Given the description of an element on the screen output the (x, y) to click on. 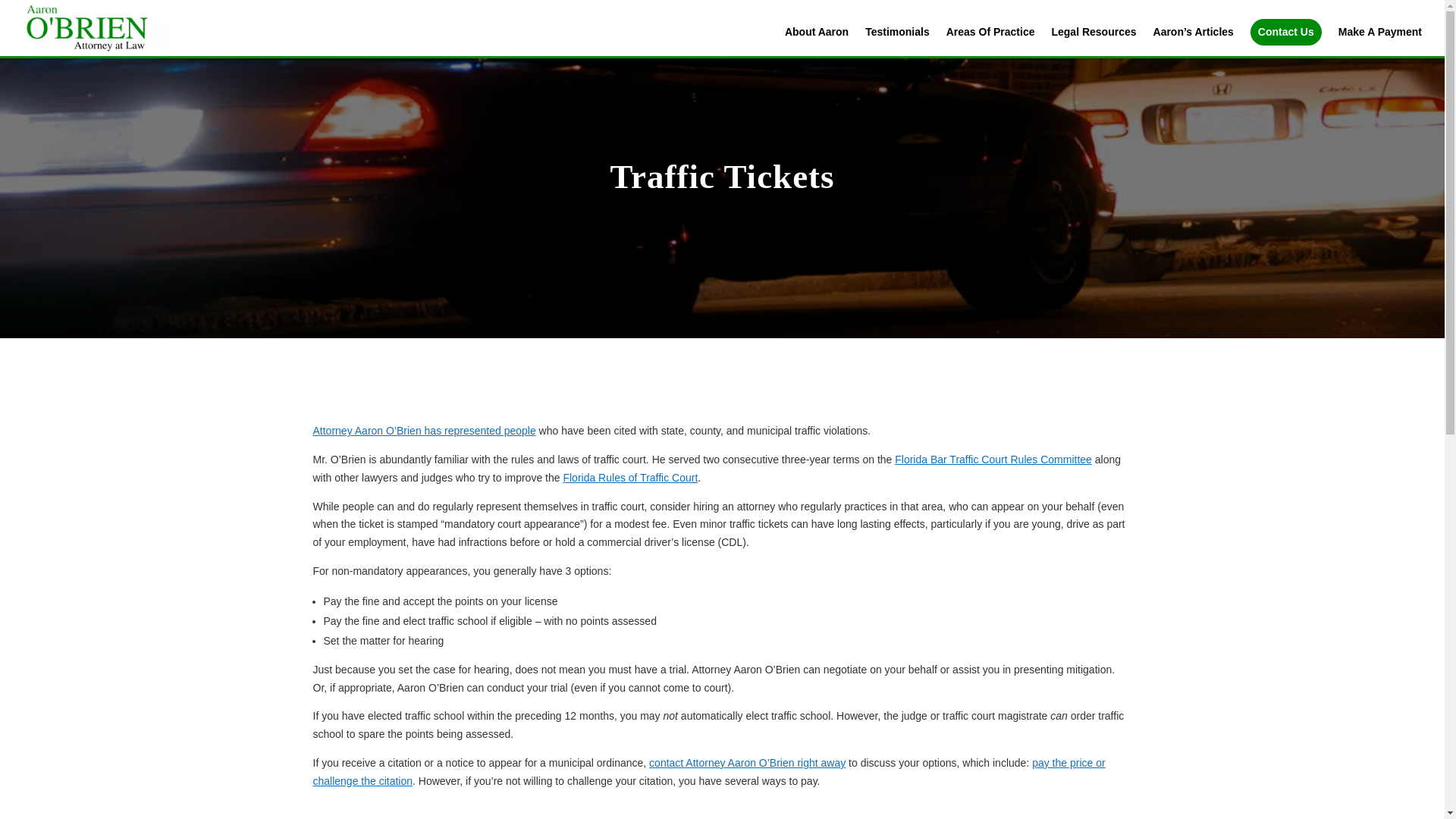
Testimonials (897, 41)
Legal Resources (1093, 41)
Contact Us (1286, 31)
Florida Bar Traffic Court Rules Committee (993, 459)
About Aaron (816, 41)
Areas Of Practice (990, 41)
Make A Payment (1380, 41)
pay the price or challenge the citation (709, 771)
Florida Rules of Traffic Court (629, 477)
